Given the description of an element on the screen output the (x, y) to click on. 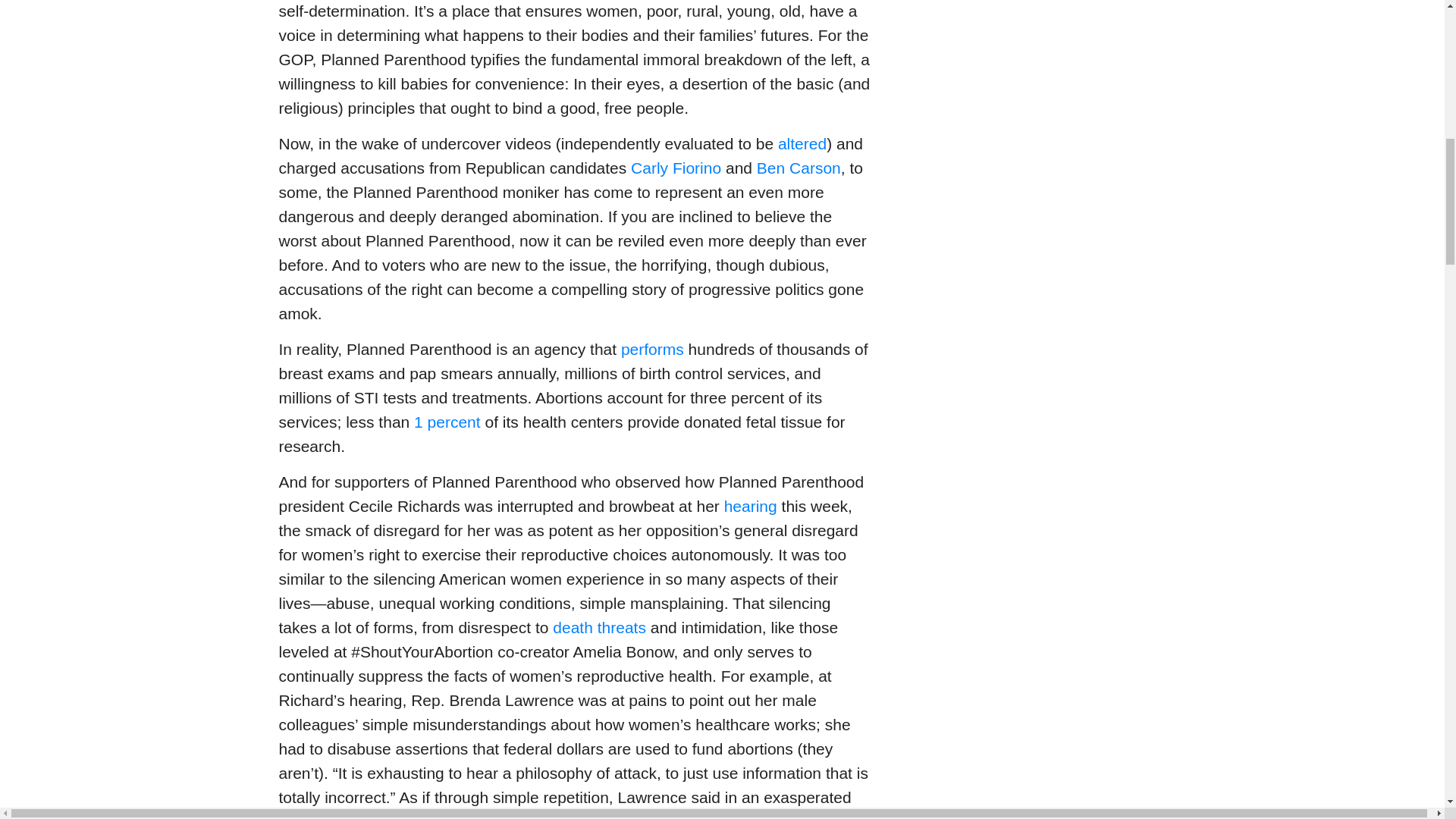
Carly Fiorino (675, 167)
death threats (599, 627)
Ben Carson (799, 167)
1 percent (446, 421)
hearing (750, 506)
altered (802, 143)
performs (652, 348)
